Given the description of an element on the screen output the (x, y) to click on. 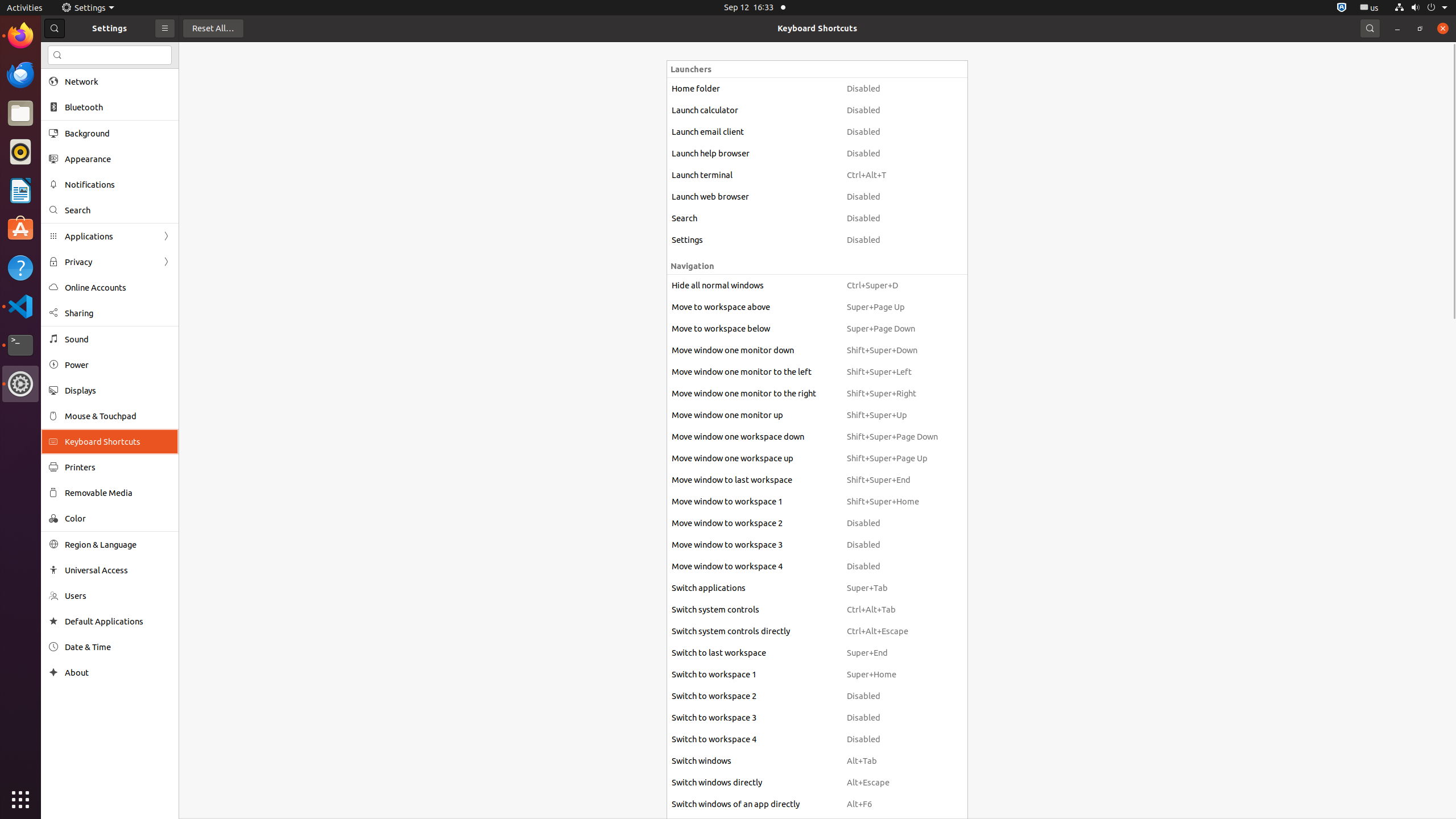
Ctrl+Alt+T Element type: label (891, 174)
Move to workspace below Element type: label (753, 328)
Shift+Super+Home Element type: label (891, 501)
Bluetooth Element type: label (117, 107)
